Given the description of an element on the screen output the (x, y) to click on. 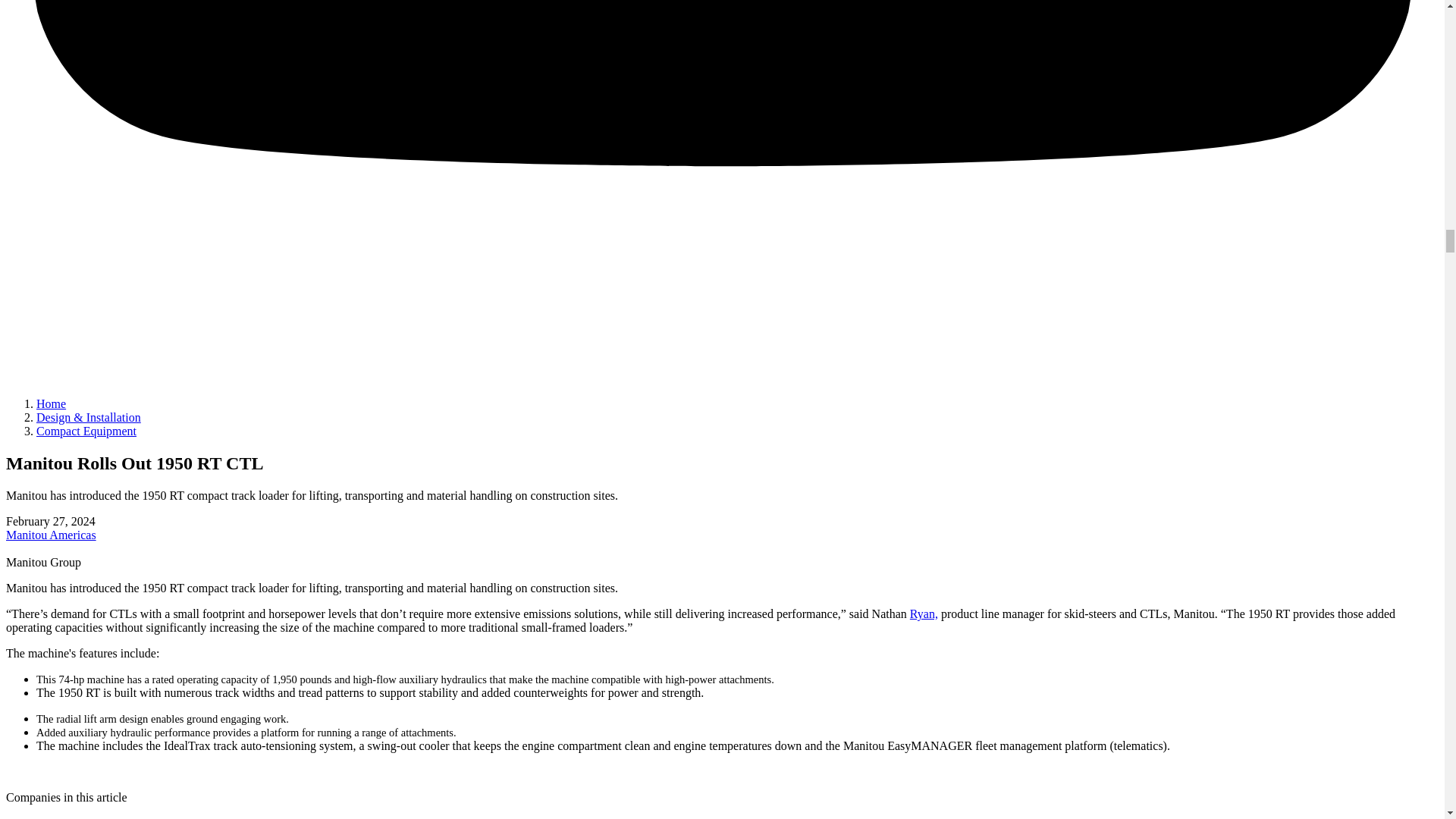
Home (50, 403)
Compact Equipment (86, 431)
